Given the description of an element on the screen output the (x, y) to click on. 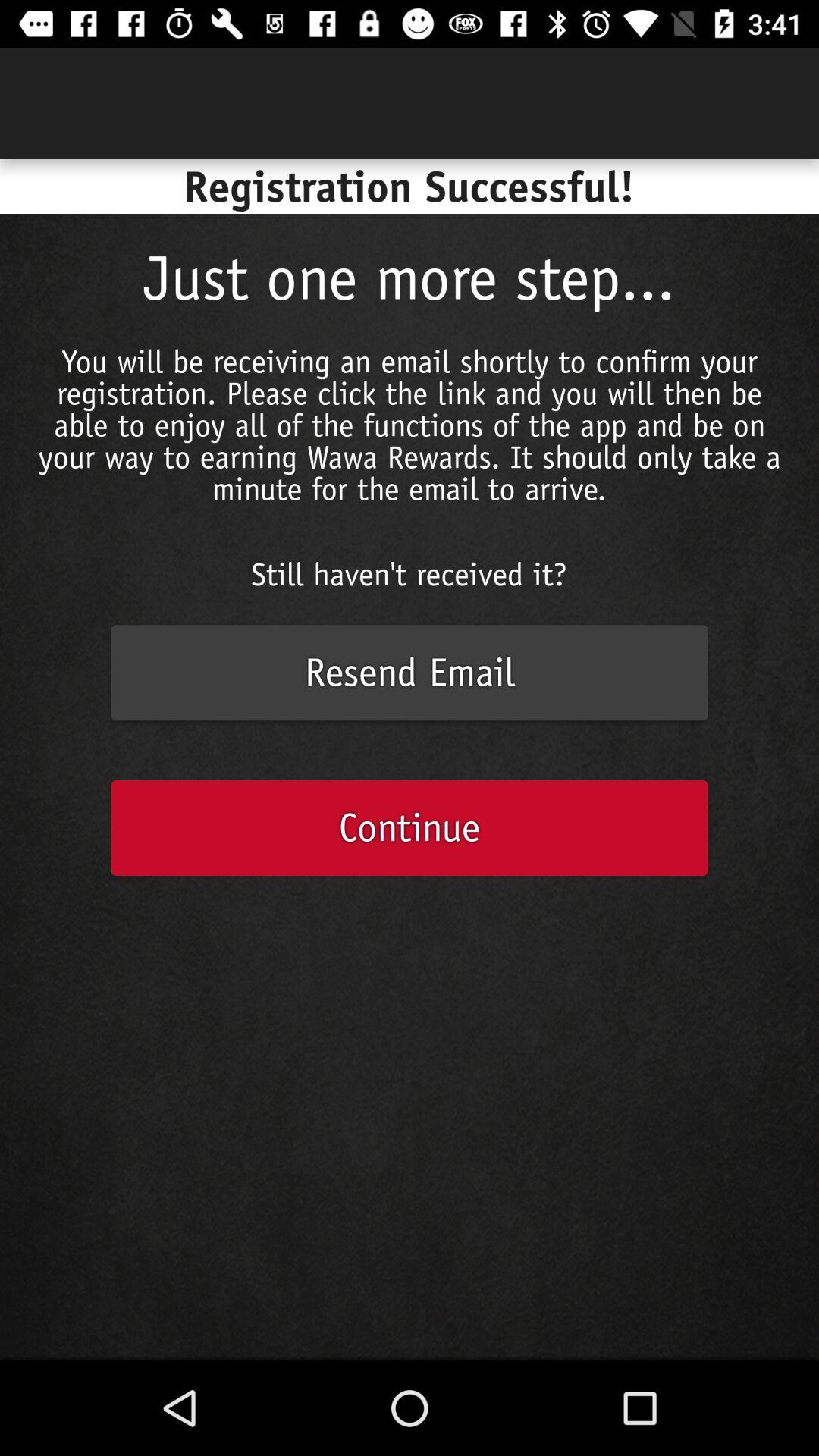
choose icon below resend email icon (409, 827)
